Given the description of an element on the screen output the (x, y) to click on. 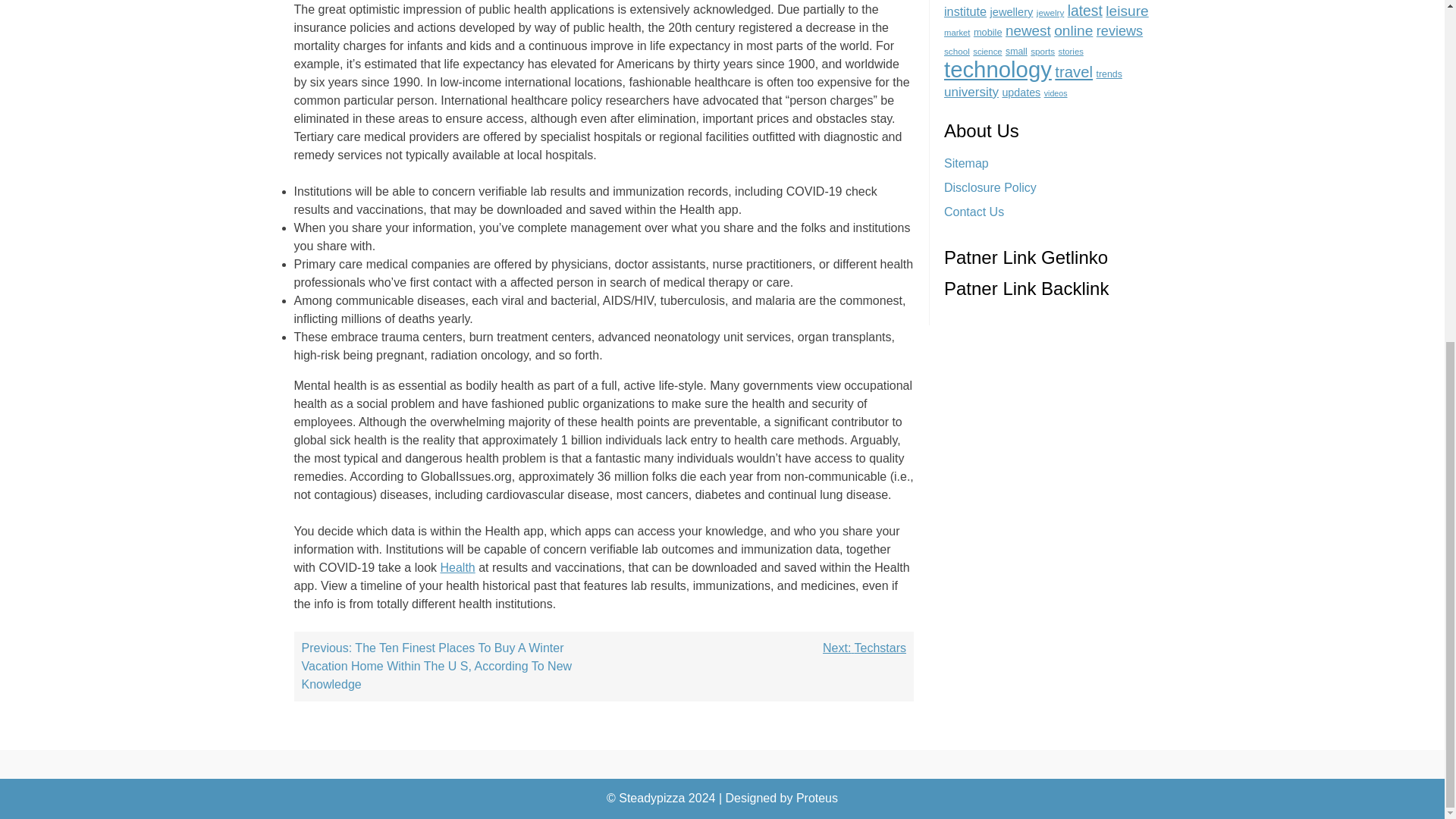
Health (456, 567)
Next: Techstars (863, 647)
